Given the description of an element on the screen output the (x, y) to click on. 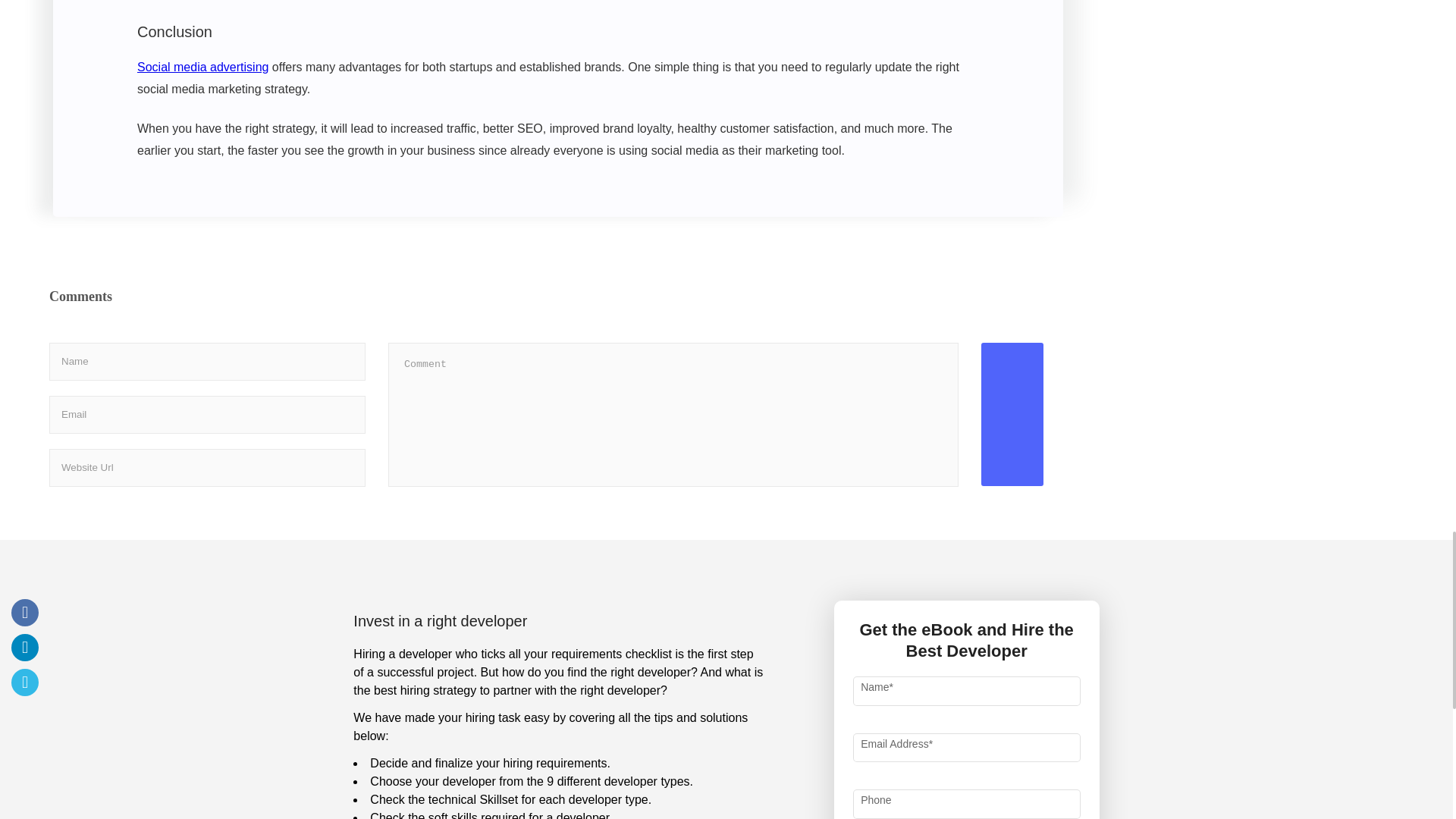
Social media advertising (201, 66)
